Given the description of an element on the screen output the (x, y) to click on. 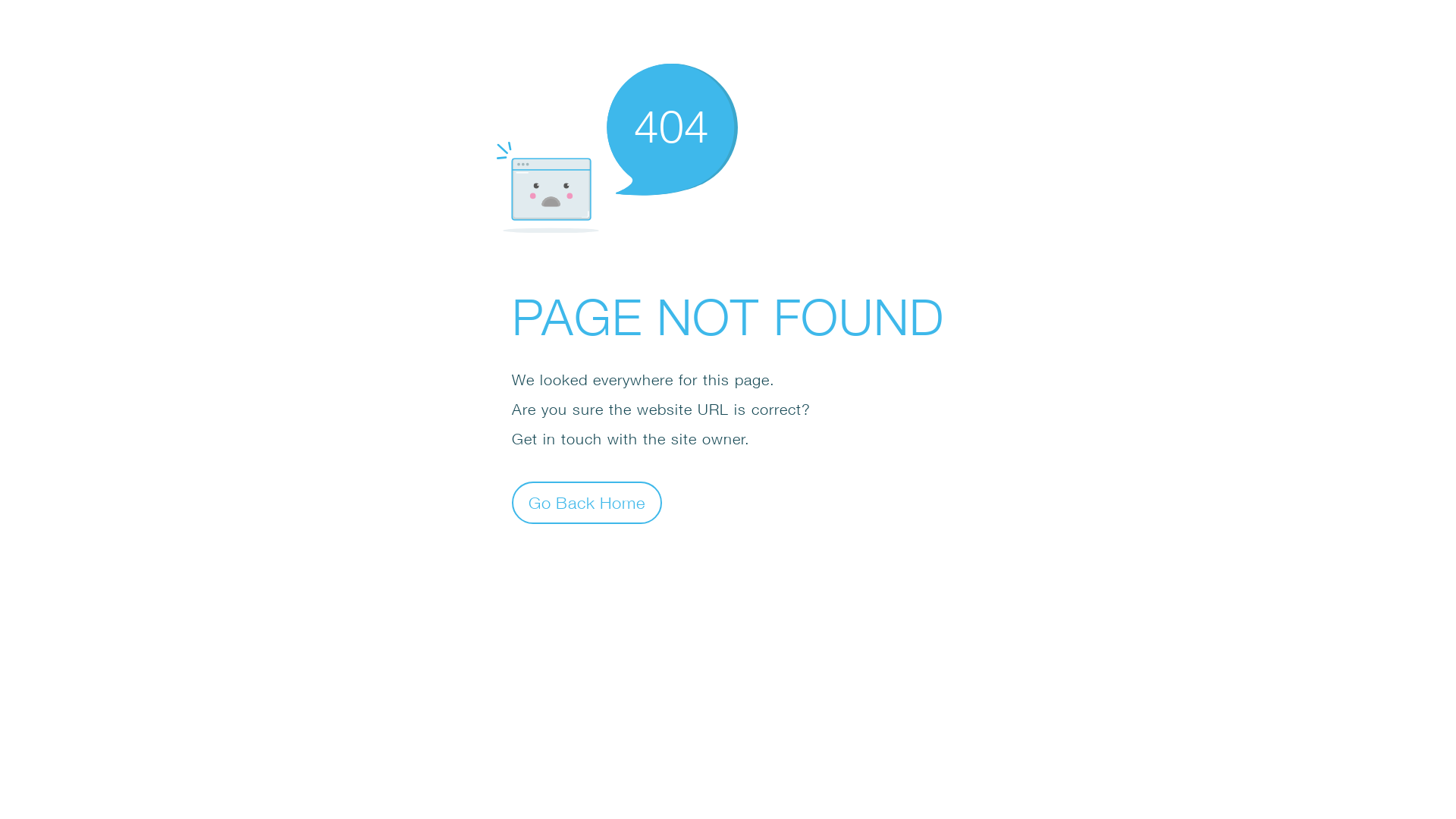
Go Back Home Element type: text (586, 502)
